Given the description of an element on the screen output the (x, y) to click on. 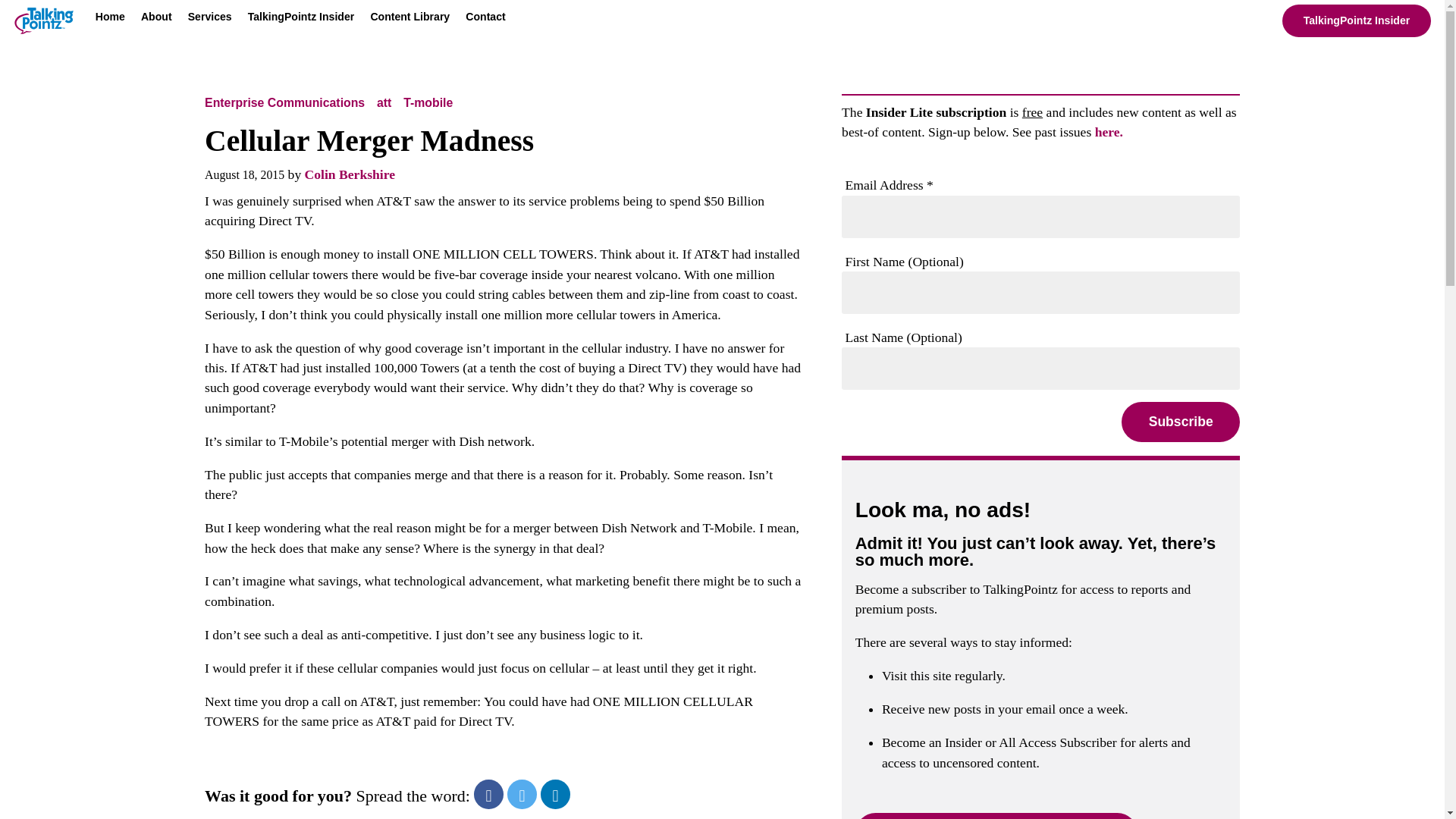
Return to the TalkingPointz homepage (43, 23)
View all posts in T-mobile (427, 102)
Subscribe (1180, 422)
TalkingPointz Insider (1356, 20)
Services (210, 20)
Enterprise Communications (288, 102)
View all posts in Enterprise Communications (288, 102)
TalkingPointz Insider (301, 20)
About (156, 20)
T-mobile (427, 102)
View all posts in att (384, 102)
Content Library (409, 20)
Home (110, 20)
Subscribe (1180, 422)
Contact (485, 20)
